Given the description of an element on the screen output the (x, y) to click on. 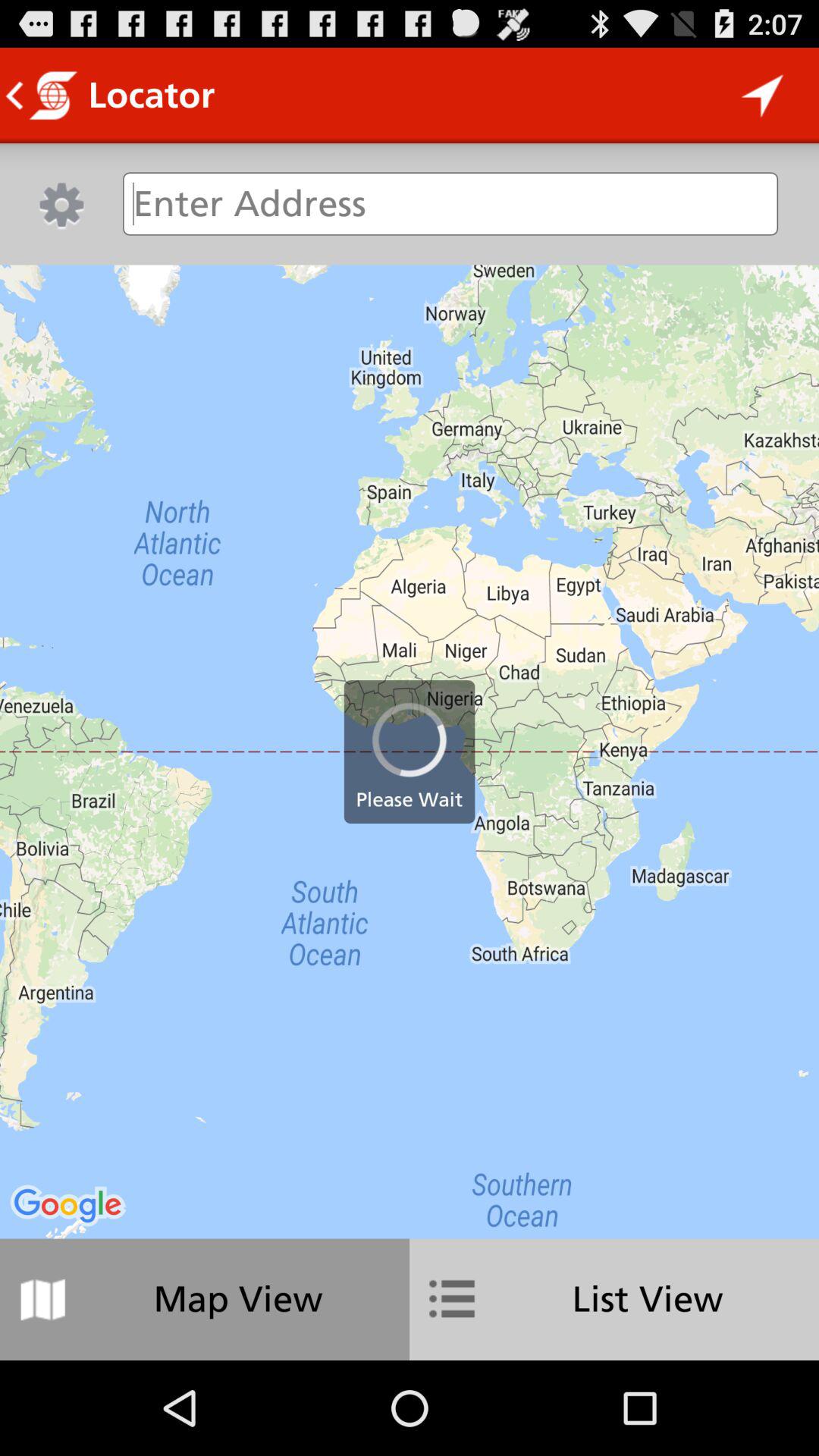
click the item next to locator app (763, 95)
